Given the description of an element on the screen output the (x, y) to click on. 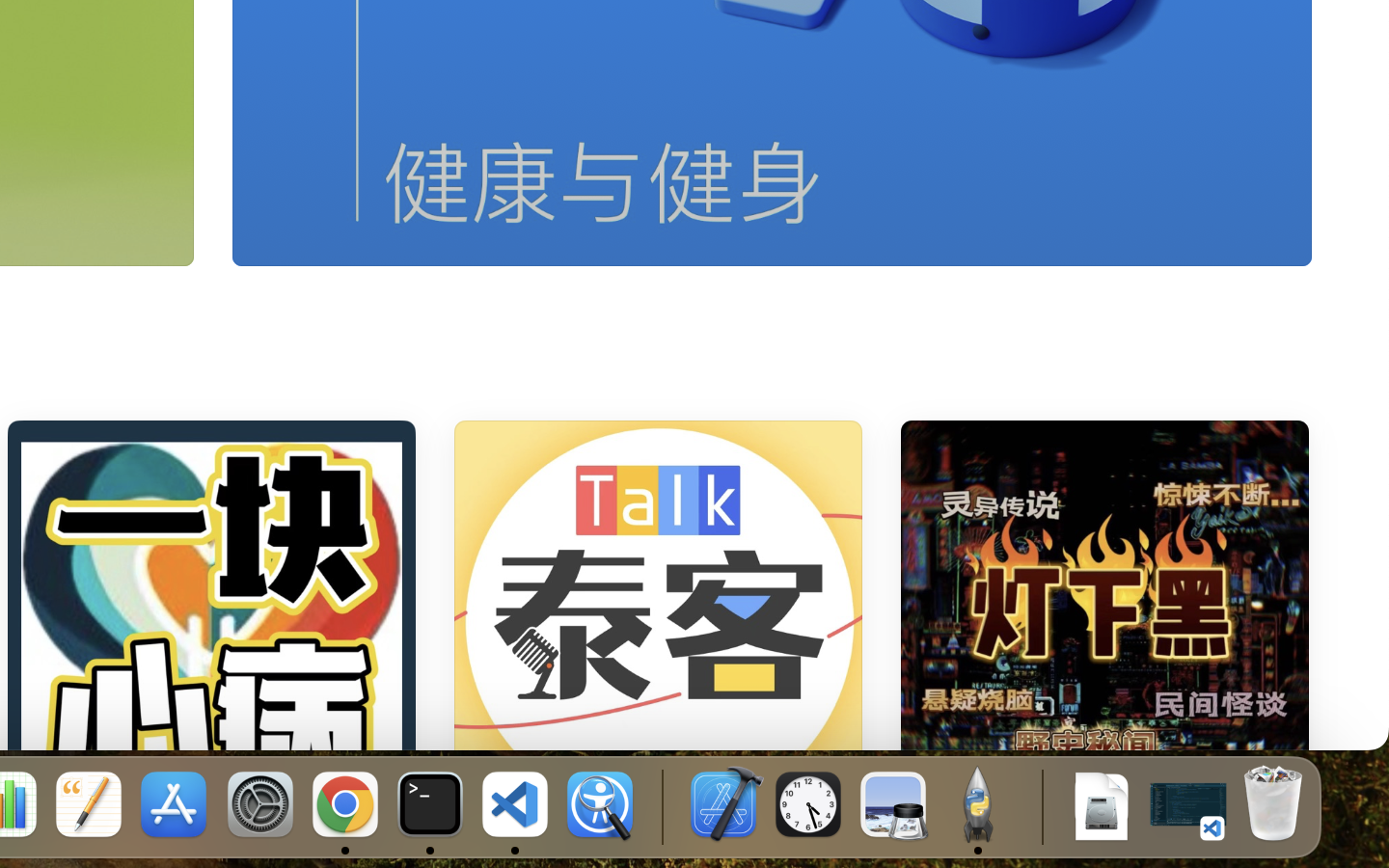
0.4285714328289032 Element type: AXDockItem (660, 805)
